Given the description of an element on the screen output the (x, y) to click on. 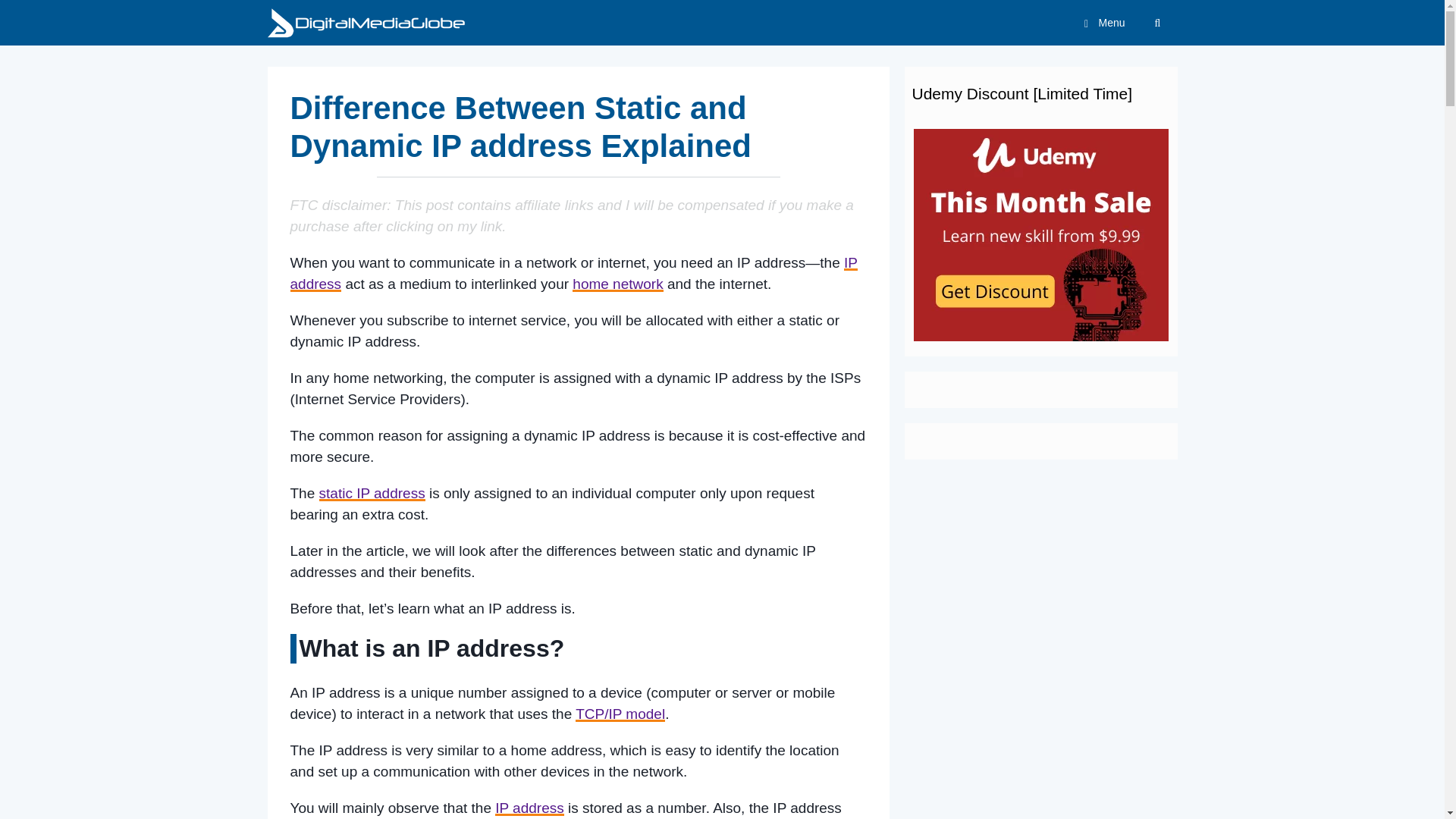
Digital Media Globe (368, 22)
Digital Media Globe (365, 22)
Menu (1101, 22)
home network (617, 283)
Udemy (1040, 234)
static IP address (371, 493)
IP address (529, 807)
IP address (573, 273)
